Given the description of an element on the screen output the (x, y) to click on. 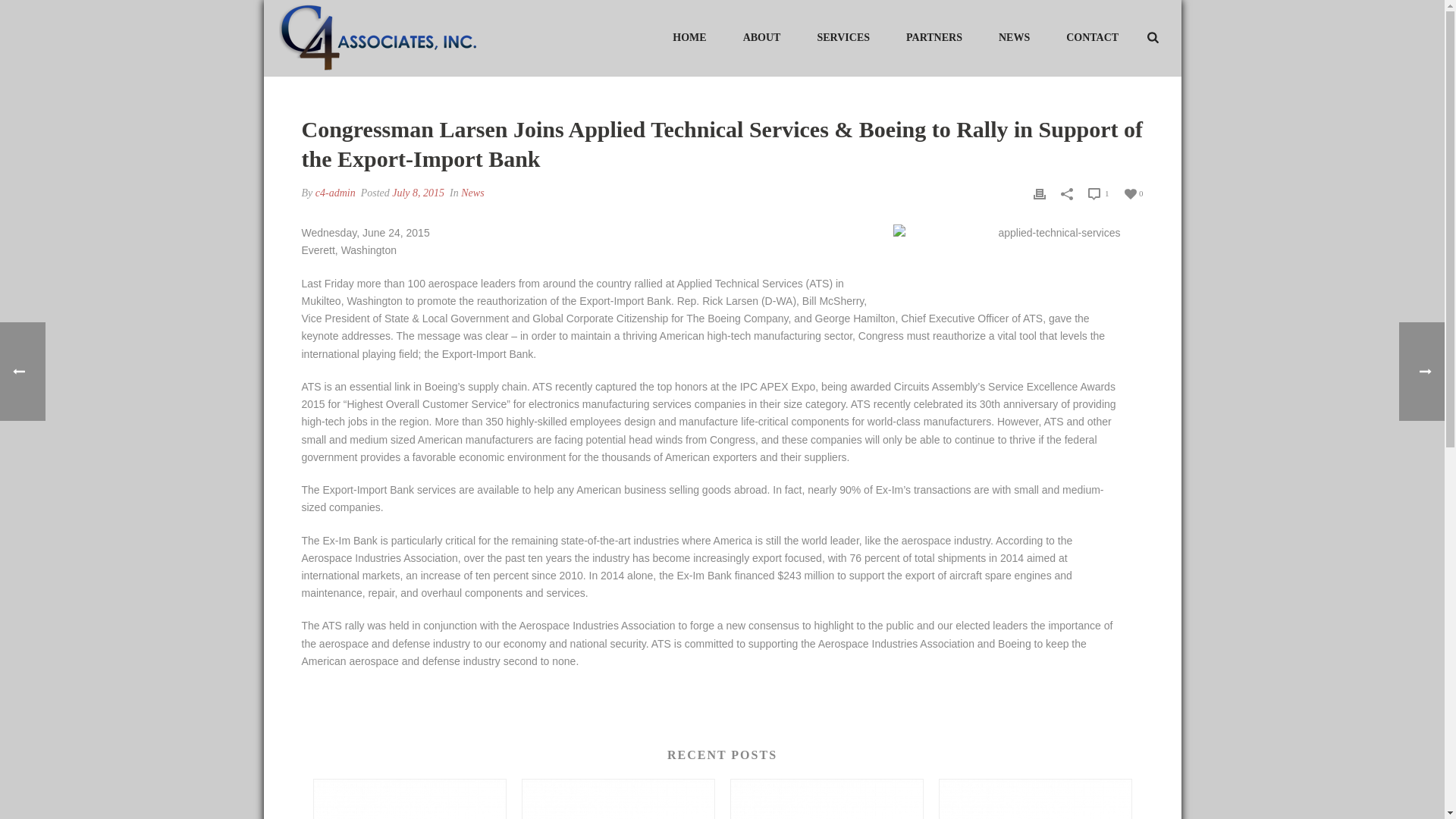
PARTNERS (933, 36)
Posts by c4-admin (335, 193)
ABOUT (761, 36)
0 (1133, 193)
c4-admin (335, 193)
CONTACT (1092, 36)
NEWS (1013, 36)
HOME (689, 36)
HOME (689, 36)
Print (1039, 192)
SERVICES (842, 36)
SERVICES (842, 36)
NEWS (1013, 36)
ABOUT (761, 36)
1 (1097, 193)
